Given the description of an element on the screen output the (x, y) to click on. 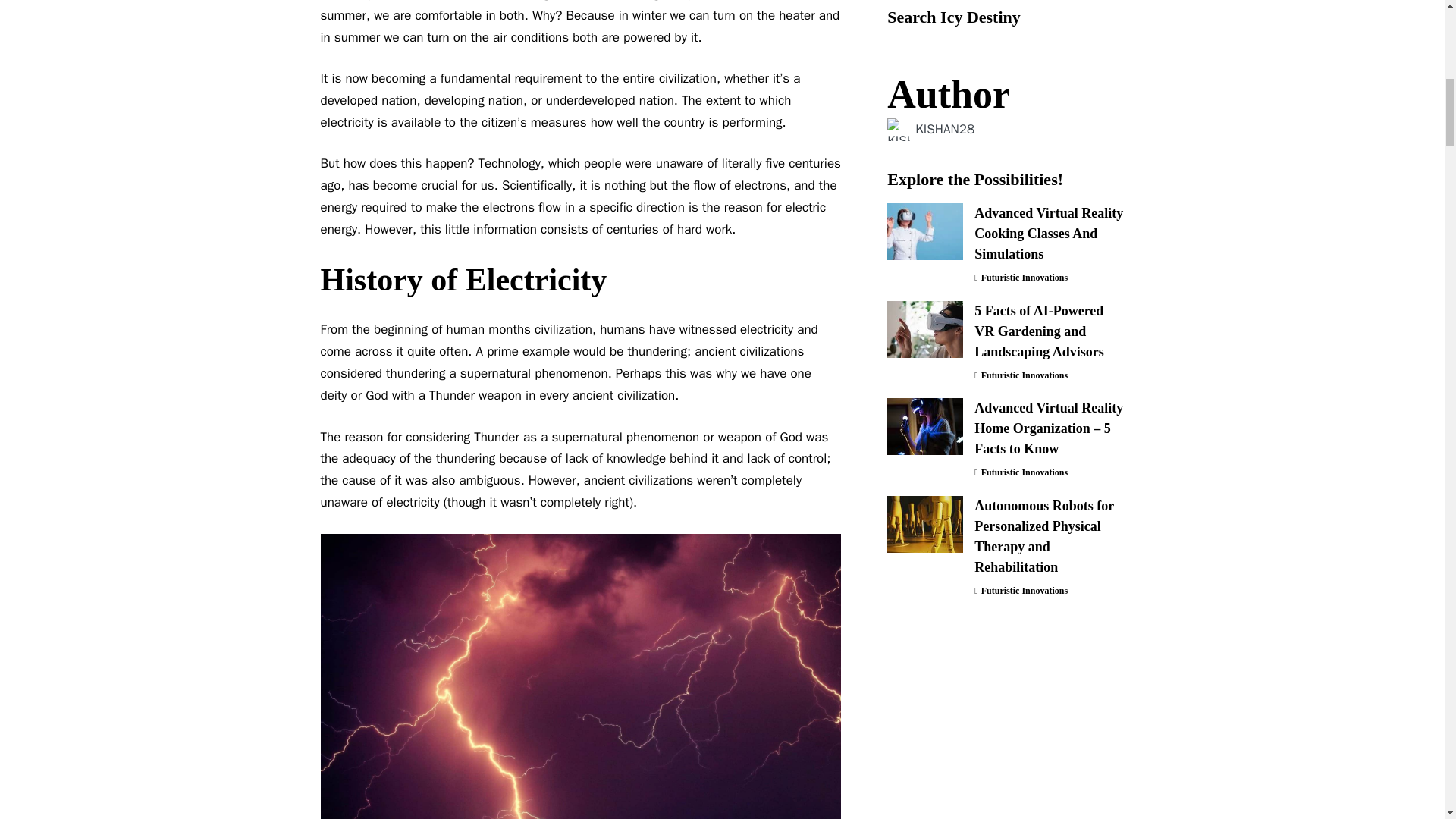
Advanced Virtual Reality Cooking Classes And Simulations (924, 41)
5 Facts of AI-Powered VR Gardening and Landscaping Advisors (924, 138)
